Given the description of an element on the screen output the (x, y) to click on. 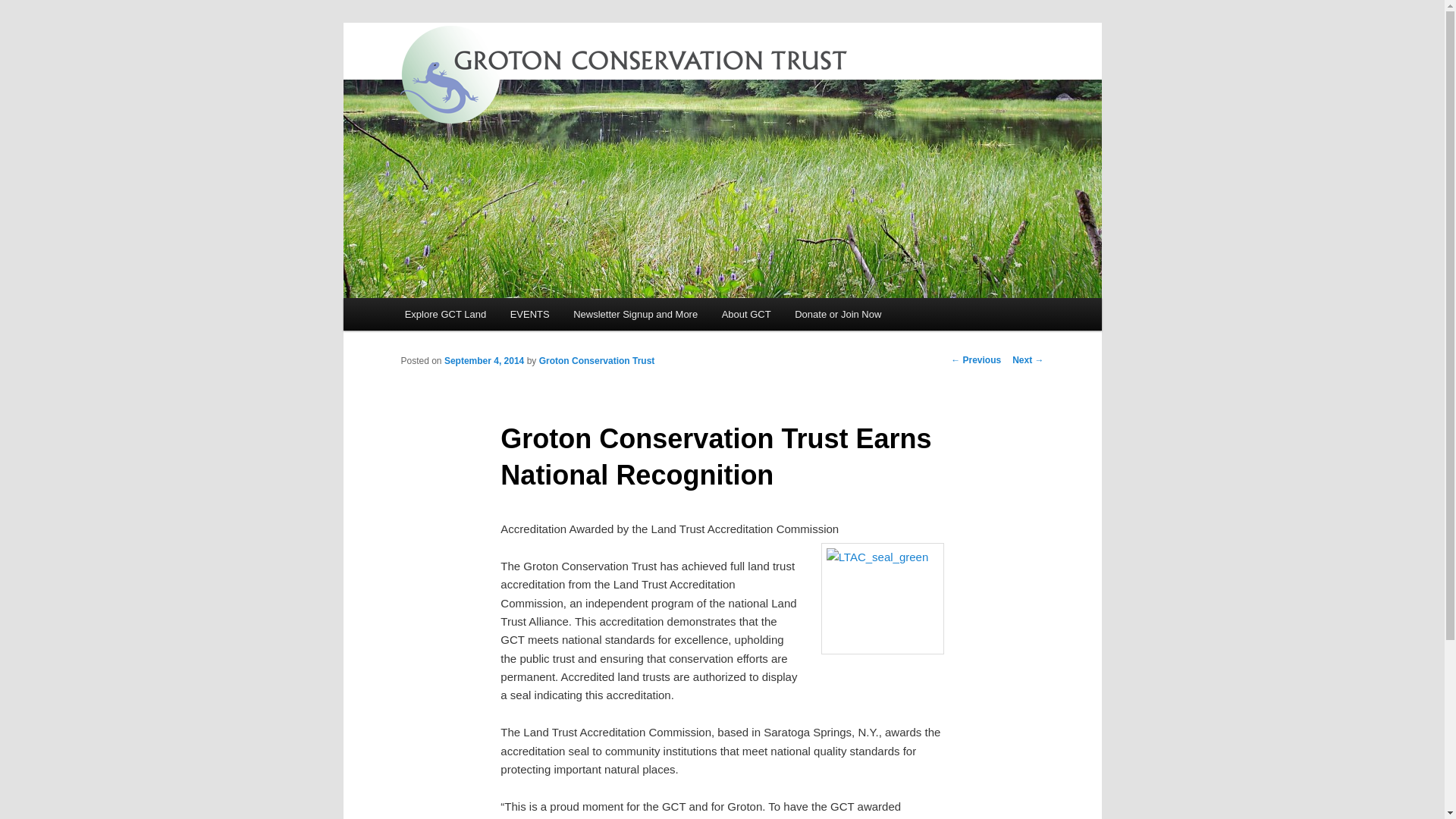
About GCT (746, 314)
September 4, 2014 (484, 360)
Newsletter Signup and More (635, 314)
11:32 am (484, 360)
Groton Conservation Trust (545, 134)
View all posts by Groton Conservation Trust (596, 360)
Groton Conservation Trust (596, 360)
Donate or Join Now (838, 314)
Explore GCT Land (445, 314)
EVENTS (529, 314)
